Given the description of an element on the screen output the (x, y) to click on. 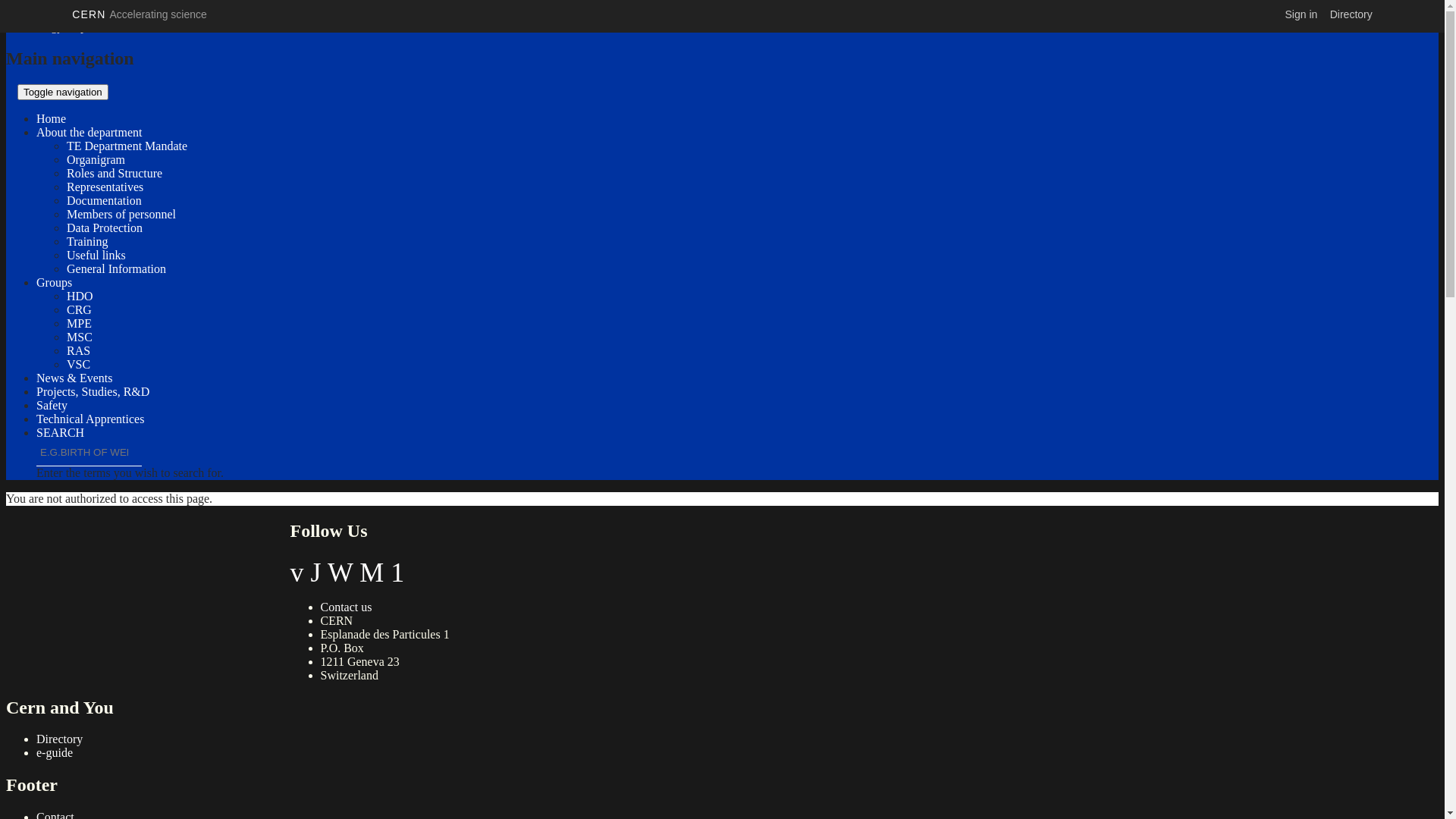
Skip to main content Element type: text (56, 12)
Organigram Element type: text (95, 159)
CERN Accelerating science Element type: text (139, 14)
M Element type: text (371, 572)
Training Element type: text (87, 241)
Roles and Structure Element type: text (114, 172)
Technical Apprentices Element type: text (90, 418)
1 Element type: text (397, 572)
About the department Element type: text (89, 131)
e-guide Element type: text (54, 752)
Directory Element type: text (59, 738)
Toggle navigation Element type: text (62, 92)
Contact us Element type: text (345, 606)
SEARCH Element type: text (60, 432)
Groups Element type: text (54, 282)
General Information Element type: text (116, 268)
CRG Element type: text (78, 309)
TE Department Mandate Element type: text (126, 145)
MSC Element type: text (79, 336)
VSC Element type: text (78, 363)
Members of personnel Element type: text (120, 213)
Useful links Element type: text (95, 254)
Sign in Element type: text (1301, 14)
HDO Element type: text (79, 295)
RAS Element type: text (78, 350)
W Element type: text (339, 572)
Projects, Studies, R&D Element type: text (92, 391)
Technology Department Element type: text (64, 25)
Safety Element type: text (51, 404)
News & Events Element type: text (74, 377)
Home Element type: text (50, 118)
Enter the terms you wish to search for. Element type: hover (88, 452)
MPE Element type: text (78, 322)
Representatives Element type: text (104, 186)
Directory Element type: text (1351, 14)
v Element type: text (296, 572)
Documentation Element type: text (103, 200)
Data Protection Element type: text (104, 227)
J Element type: text (315, 572)
